Given the description of an element on the screen output the (x, y) to click on. 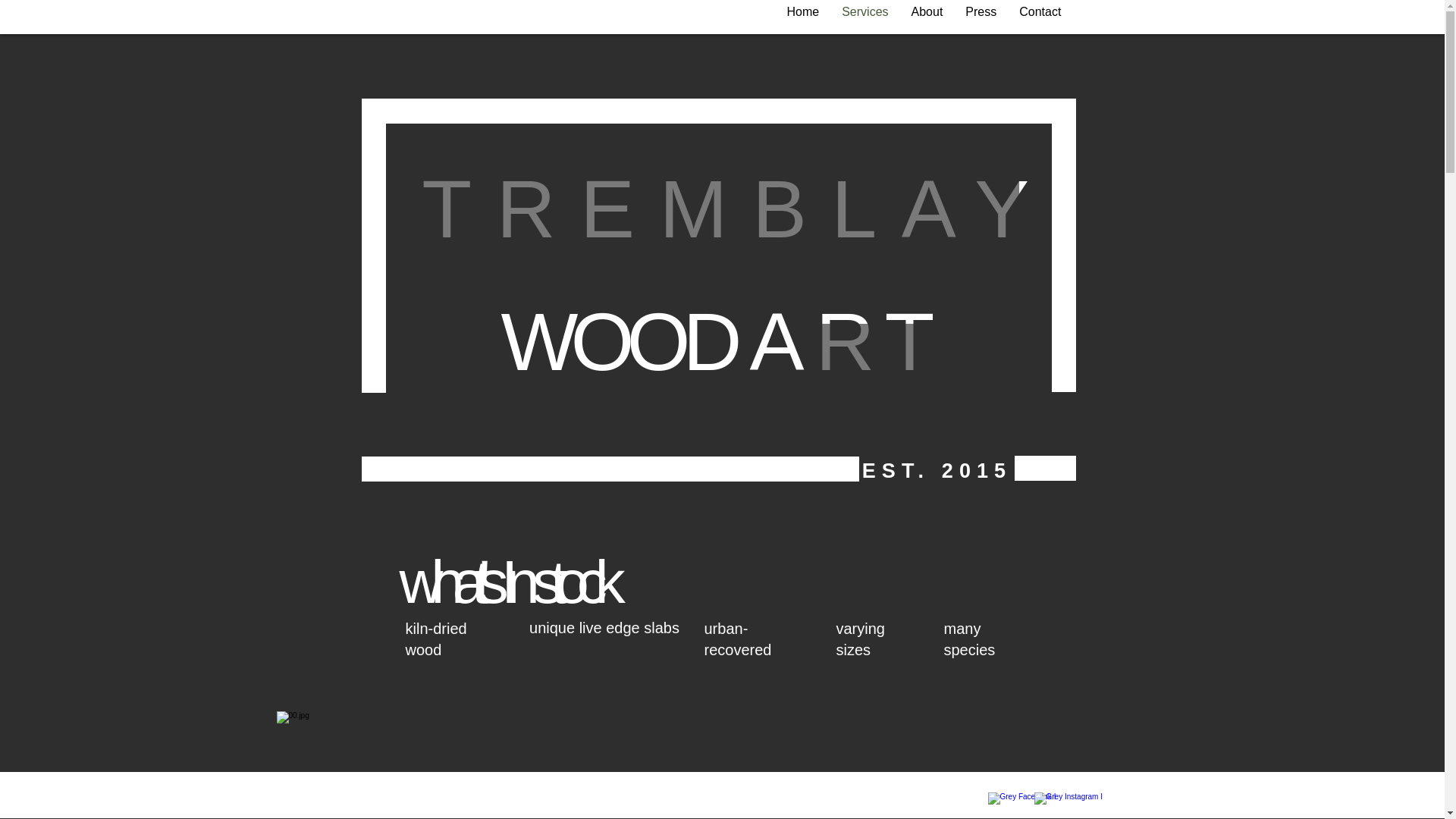
Contact (1039, 16)
Home (801, 16)
About (927, 16)
Services (864, 16)
Press (980, 16)
